Given the description of an element on the screen output the (x, y) to click on. 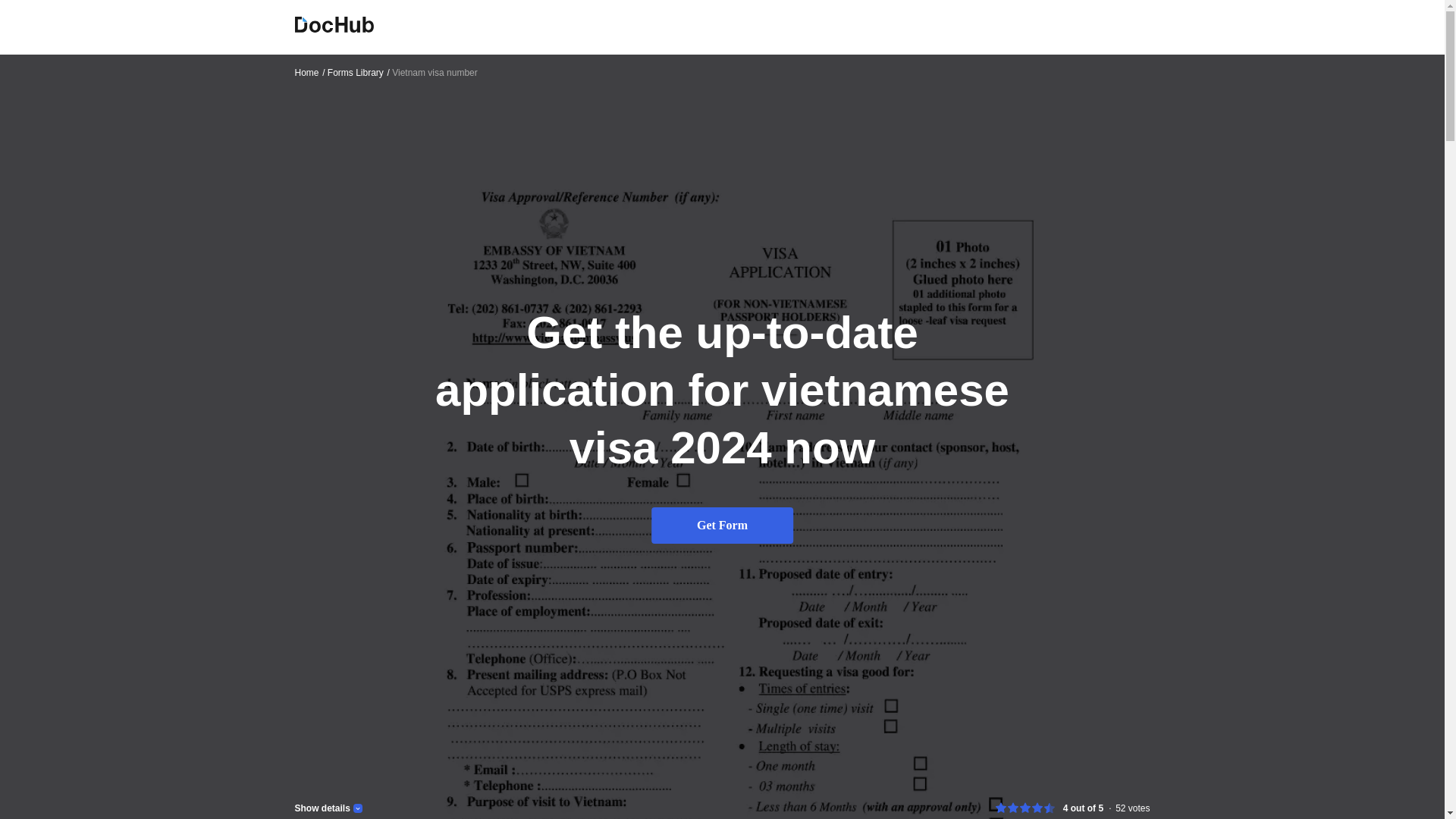
Home (309, 72)
Forms Library (358, 72)
